Given the description of an element on the screen output the (x, y) to click on. 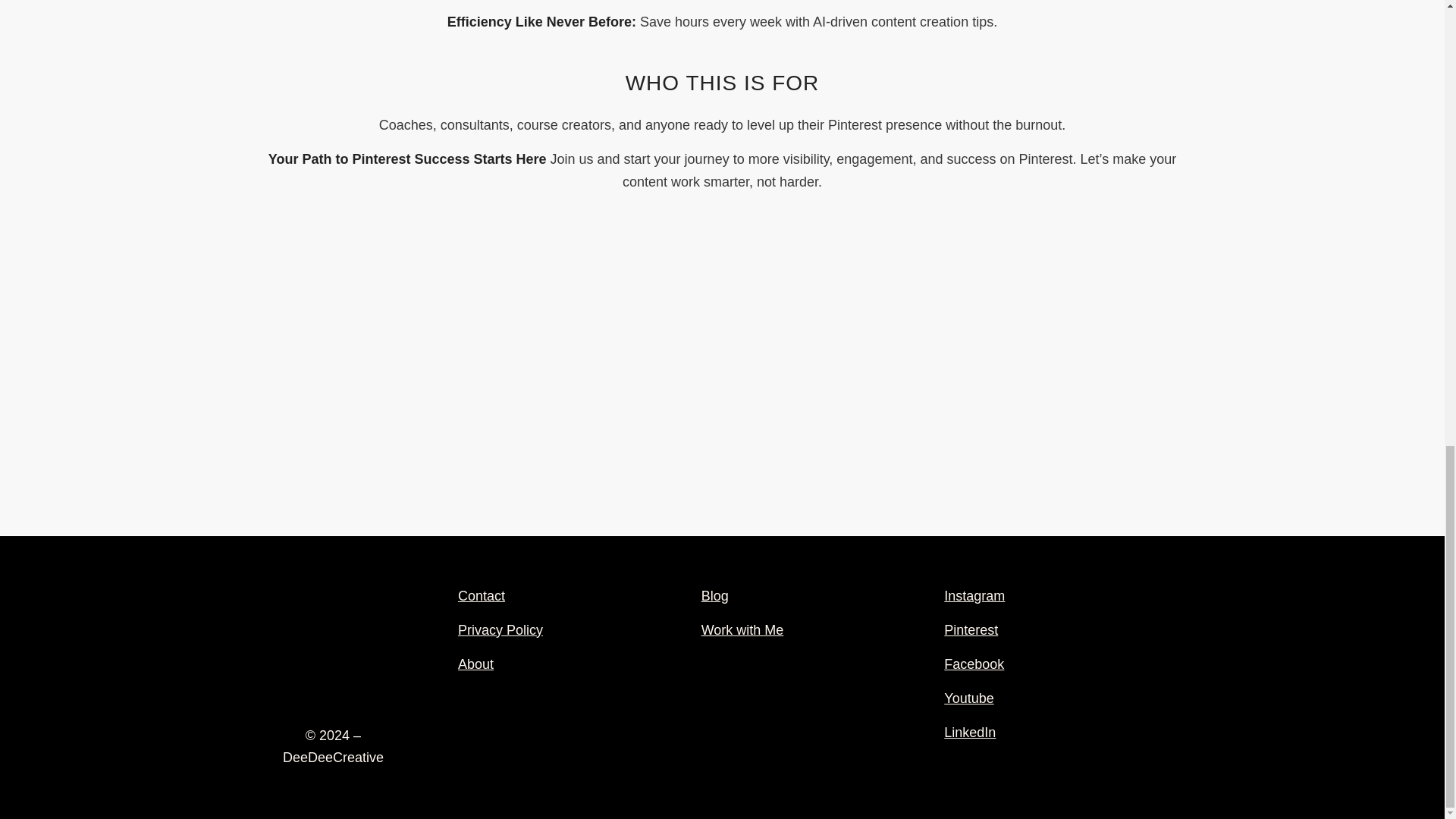
Work with Me (742, 630)
Instagram (973, 595)
Pinterest (970, 630)
Logo DeeDeeCreative (333, 643)
Blog (715, 595)
Contact (481, 595)
Privacy Policy (500, 630)
About (475, 663)
Pinterest Marketing with ChatGPT (721, 383)
Facebook (973, 663)
